Given the description of an element on the screen output the (x, y) to click on. 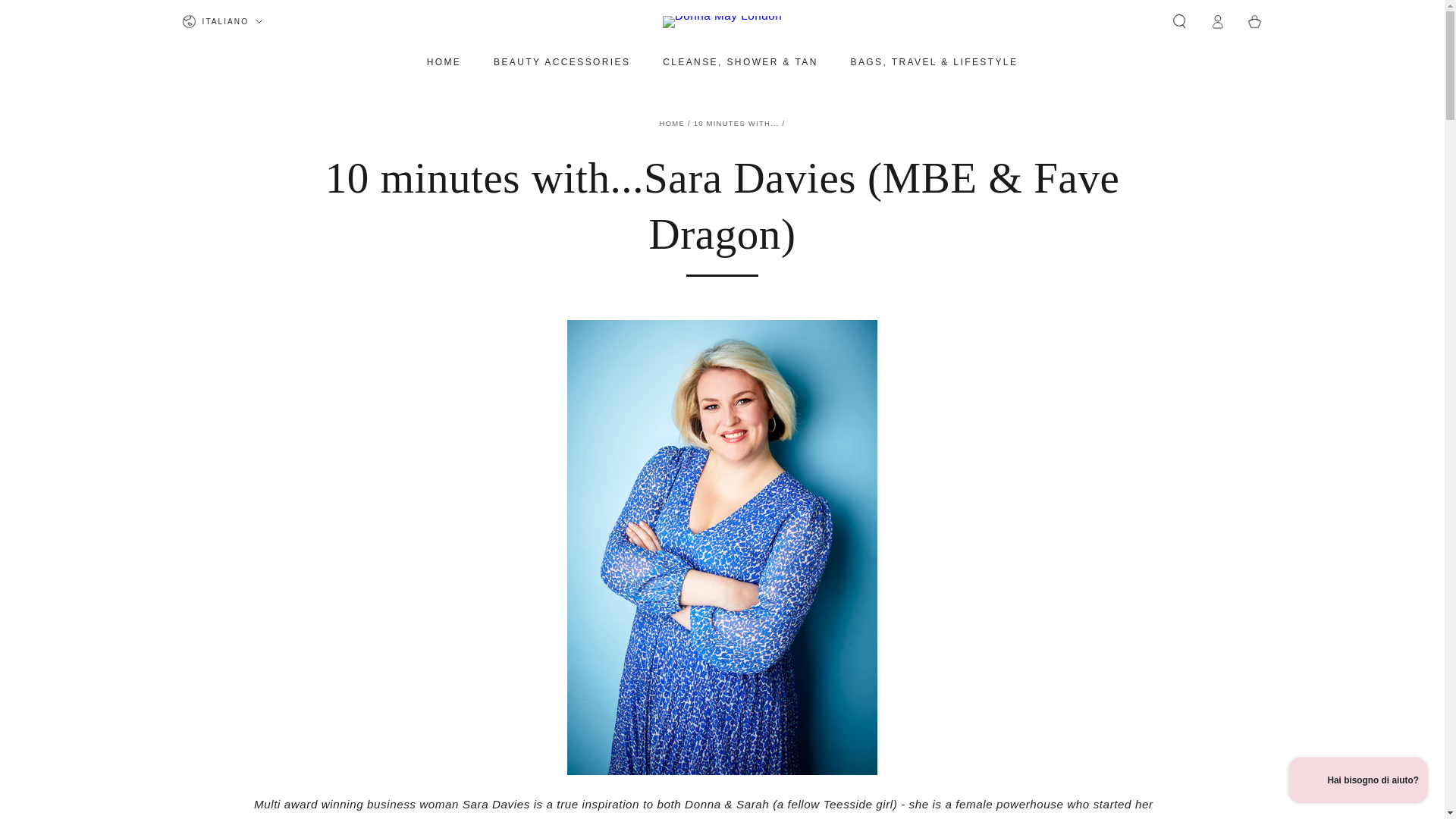
Torna alla pagina iniziale (671, 122)
PASSA AL CONTENUTO (64, 13)
Chat negozio online di Shopify (1358, 781)
